Given the description of an element on the screen output the (x, y) to click on. 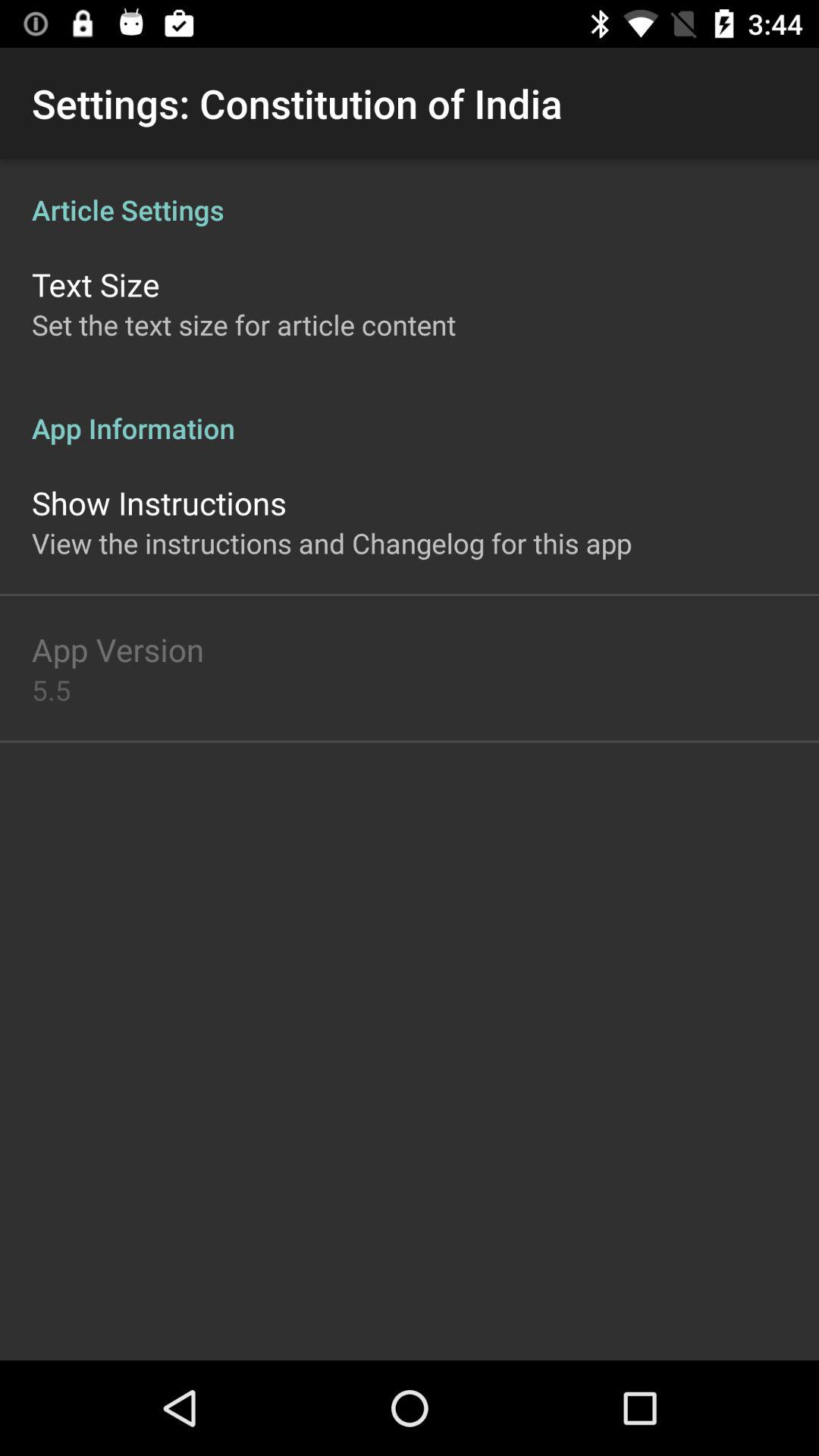
click the show instructions app (158, 502)
